Given the description of an element on the screen output the (x, y) to click on. 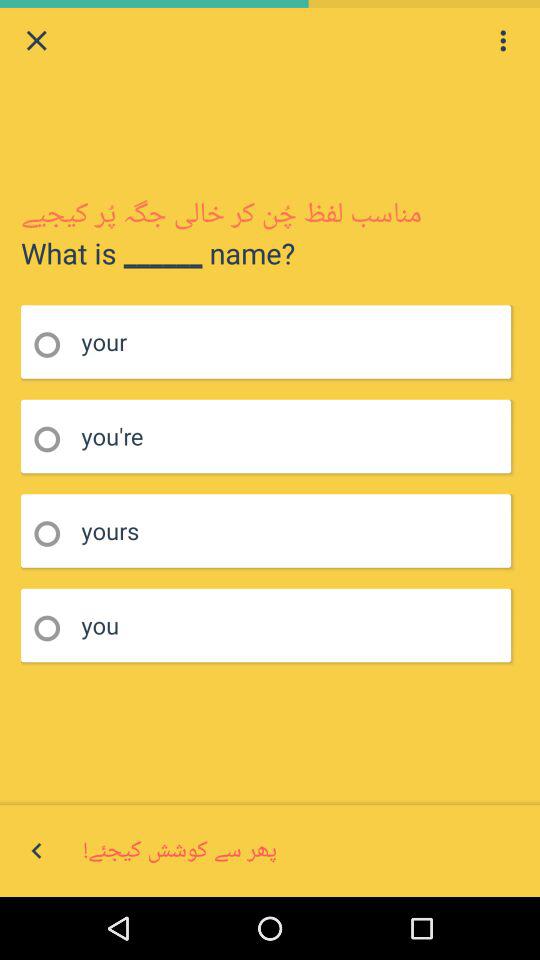
go to setting (503, 40)
